Given the description of an element on the screen output the (x, y) to click on. 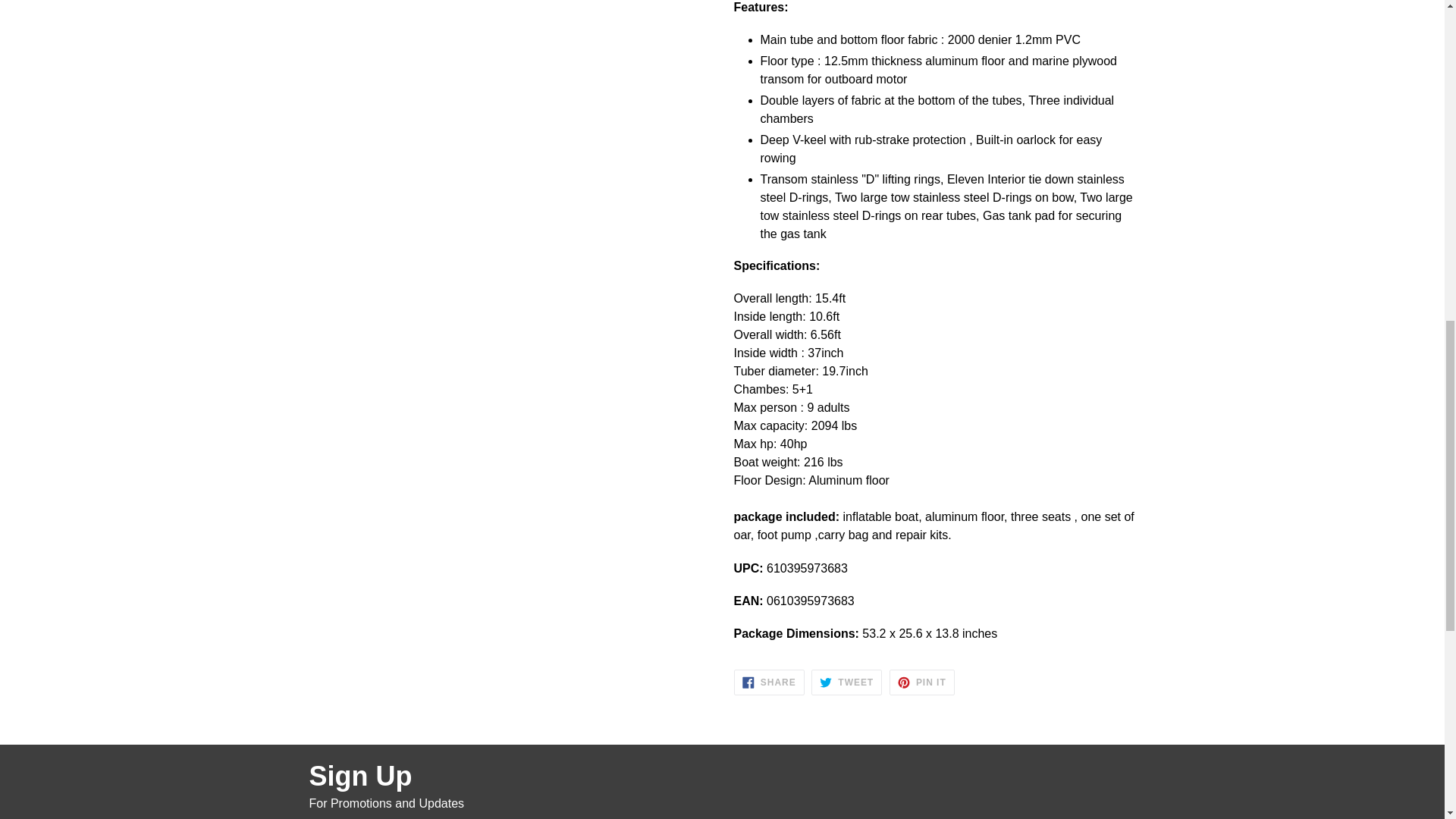
Tweet on Twitter (846, 682)
Pin on Pinterest (922, 682)
Share on Facebook (769, 682)
